Given the description of an element on the screen output the (x, y) to click on. 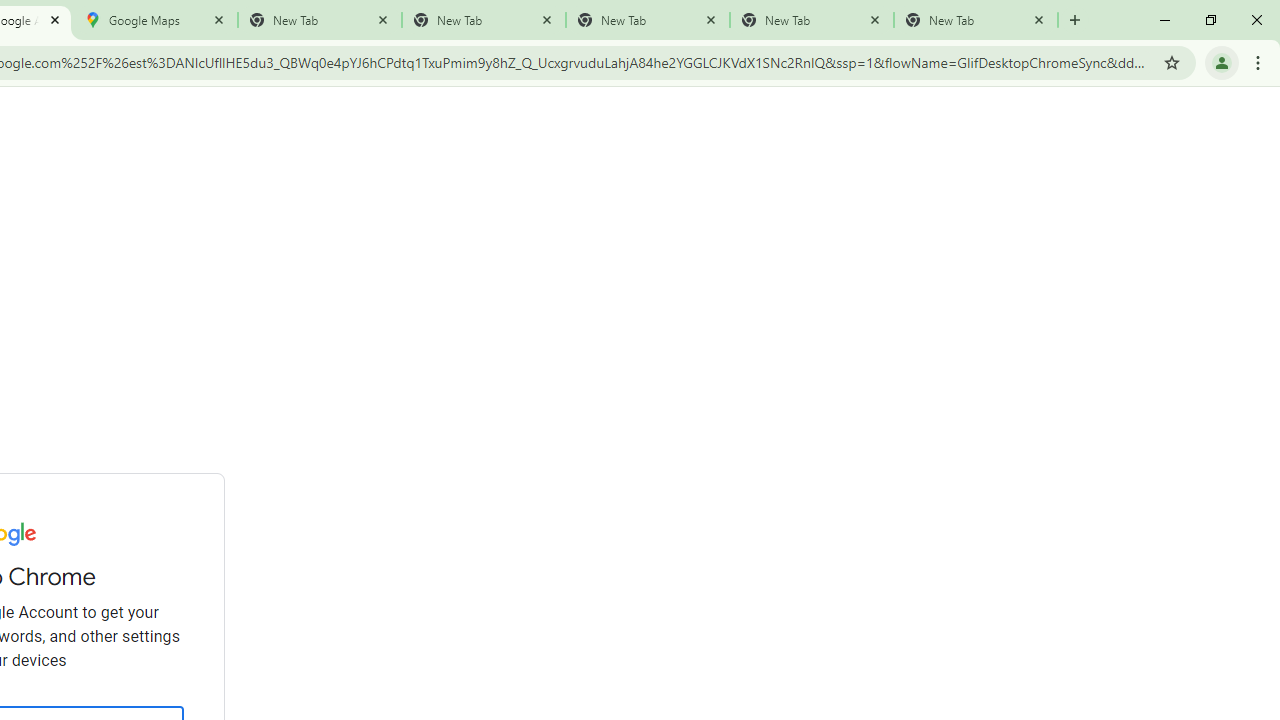
New Tab (975, 20)
Google Maps (156, 20)
